Given the description of an element on the screen output the (x, y) to click on. 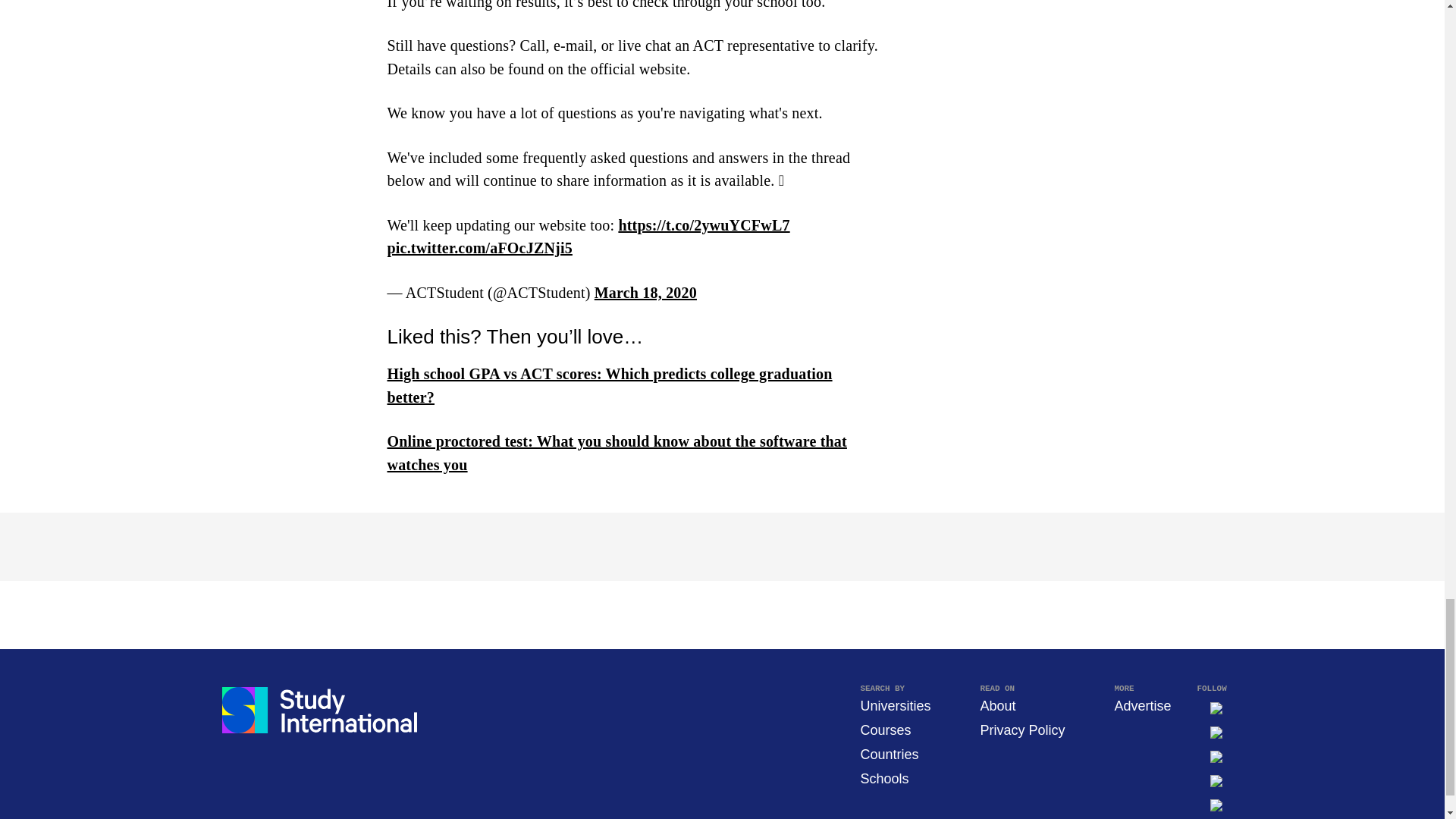
March 18, 2020 (645, 292)
